Given the description of an element on the screen output the (x, y) to click on. 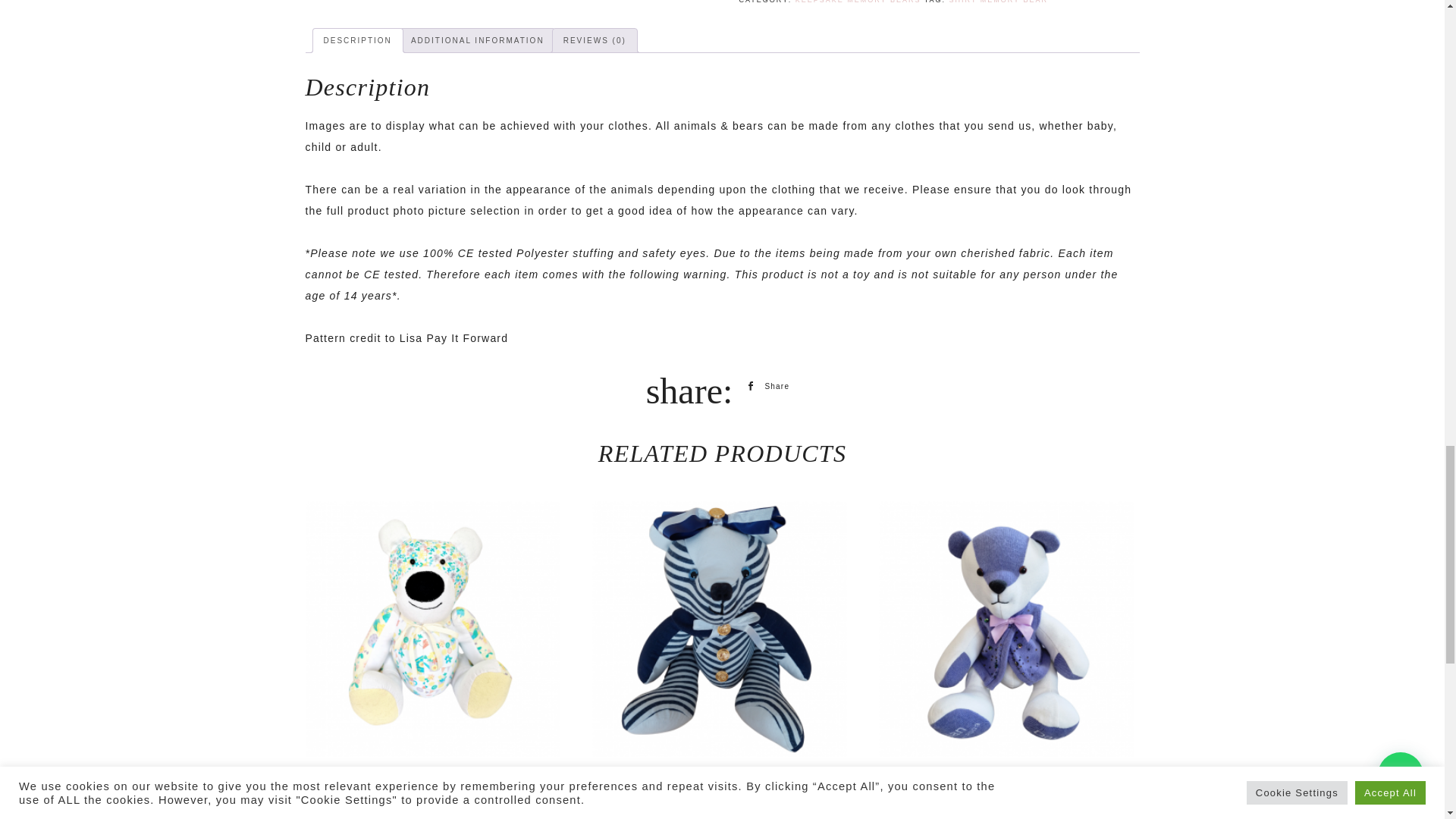
Share (766, 385)
DESCRIPTION (357, 40)
SHIRT MEMORY BEAR (998, 2)
KEEPSAKE MEMORY BEARS (857, 2)
ADDITIONAL INFORMATION (477, 40)
